Given the description of an element on the screen output the (x, y) to click on. 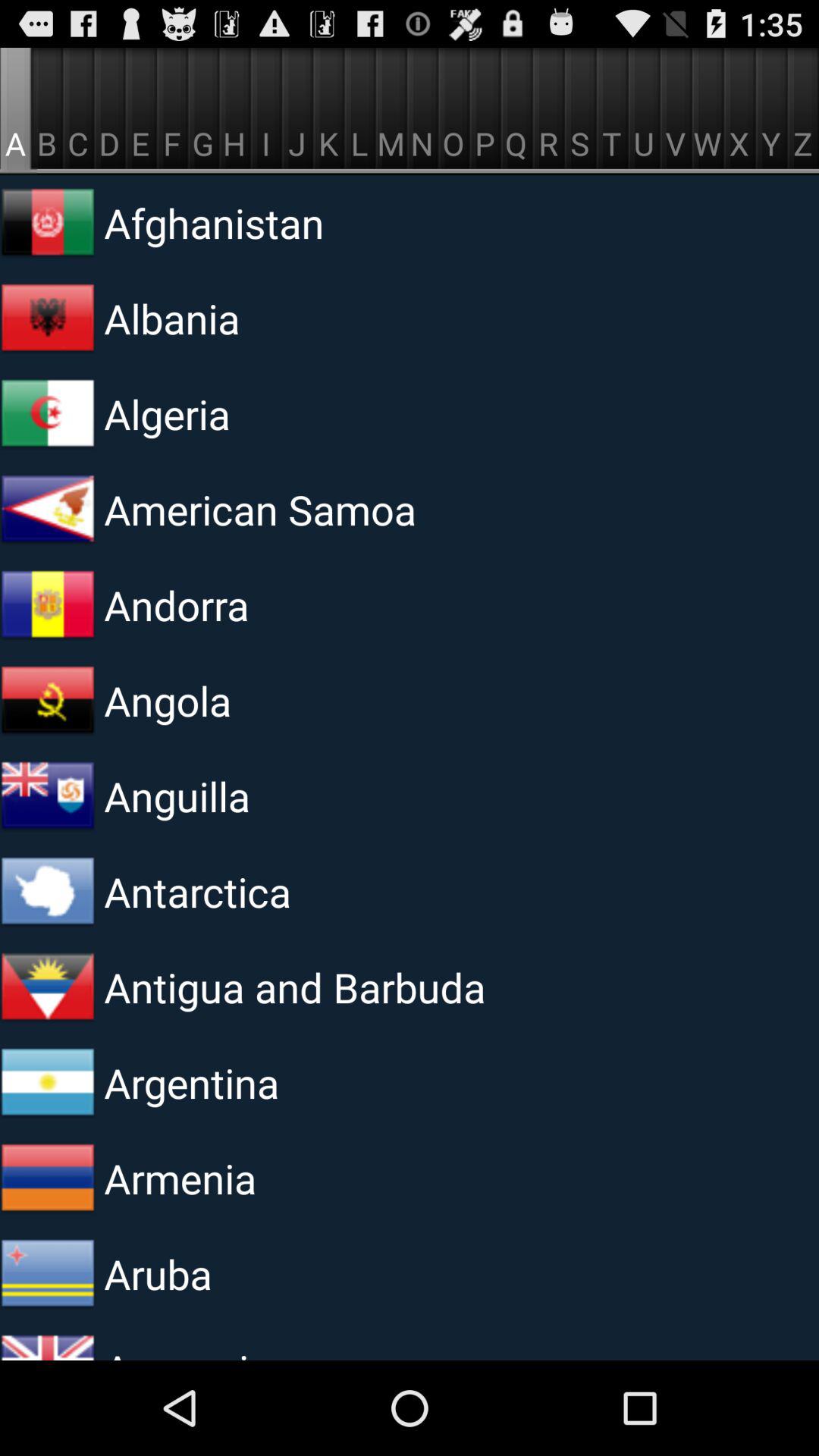
turn off the argentina (290, 1082)
